Given the description of an element on the screen output the (x, y) to click on. 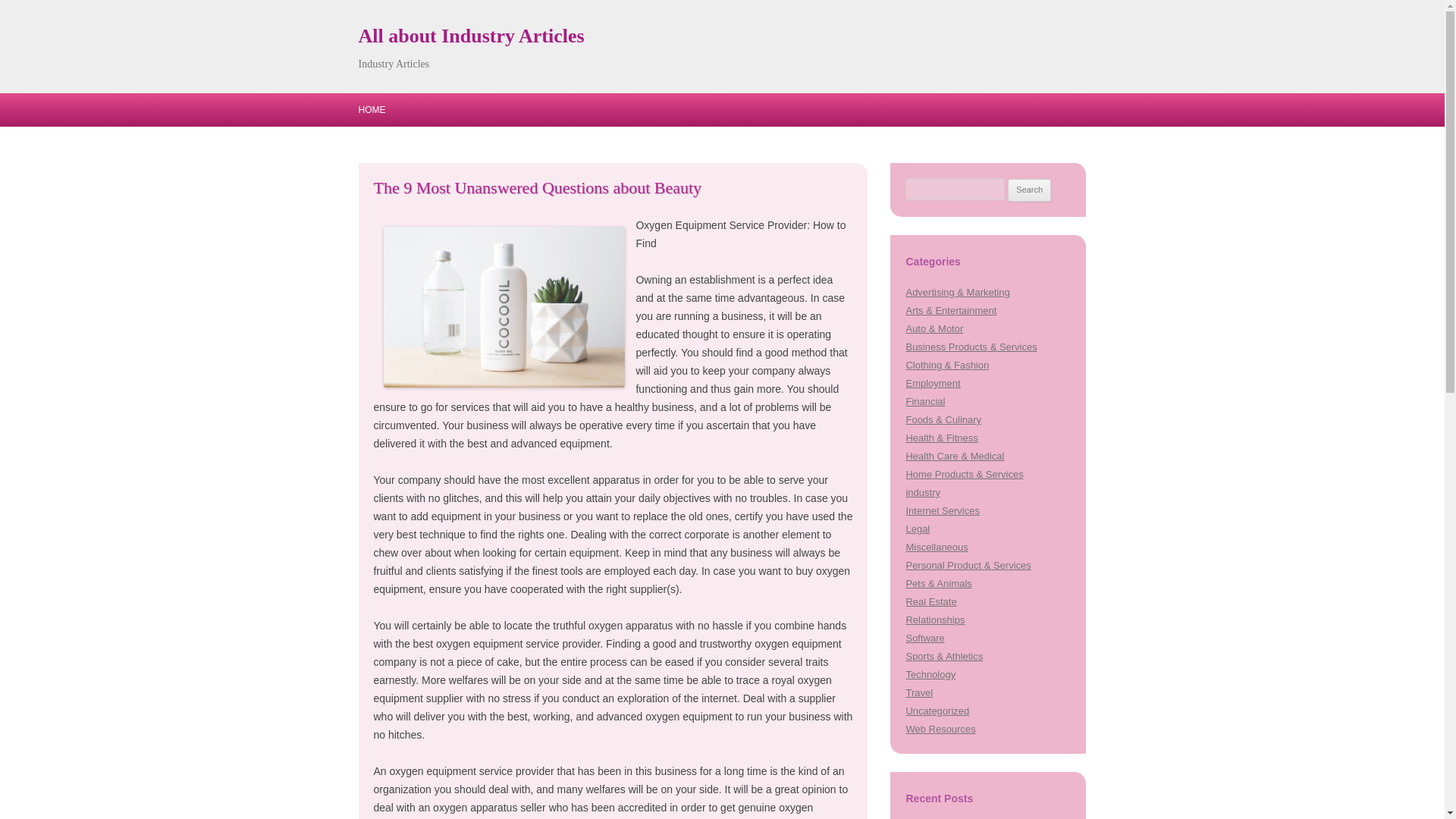
Web Resources (940, 728)
Software (924, 637)
Technology (930, 674)
Search (1029, 190)
Travel (919, 692)
Legal (917, 528)
Real Estate (930, 601)
Relationships (934, 619)
Employment (932, 383)
All about Industry Articles (470, 36)
Financial (924, 401)
All about Industry Articles (470, 36)
Miscellaneous (936, 546)
